Given the description of an element on the screen output the (x, y) to click on. 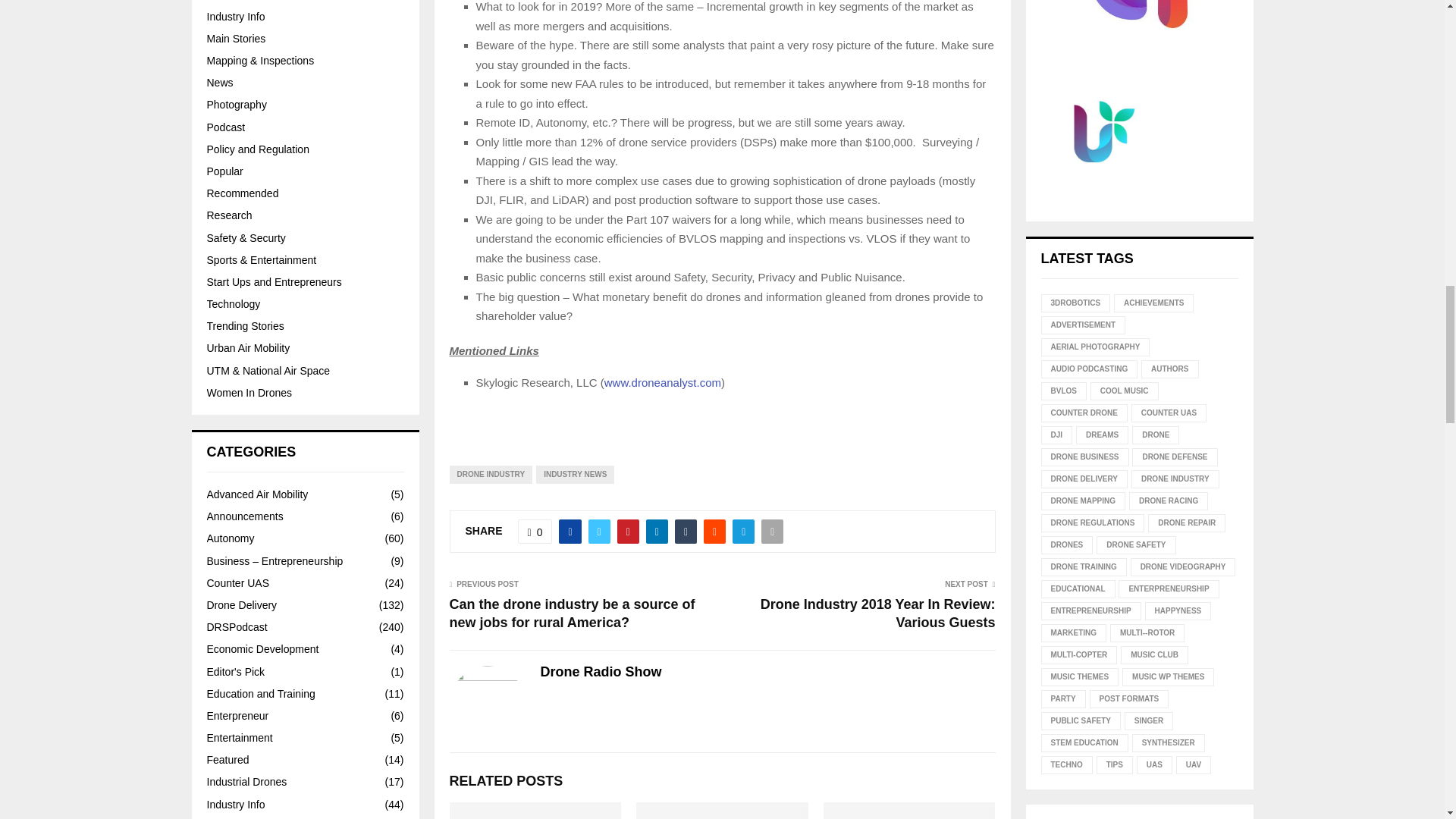
Like (535, 531)
